Given the description of an element on the screen output the (x, y) to click on. 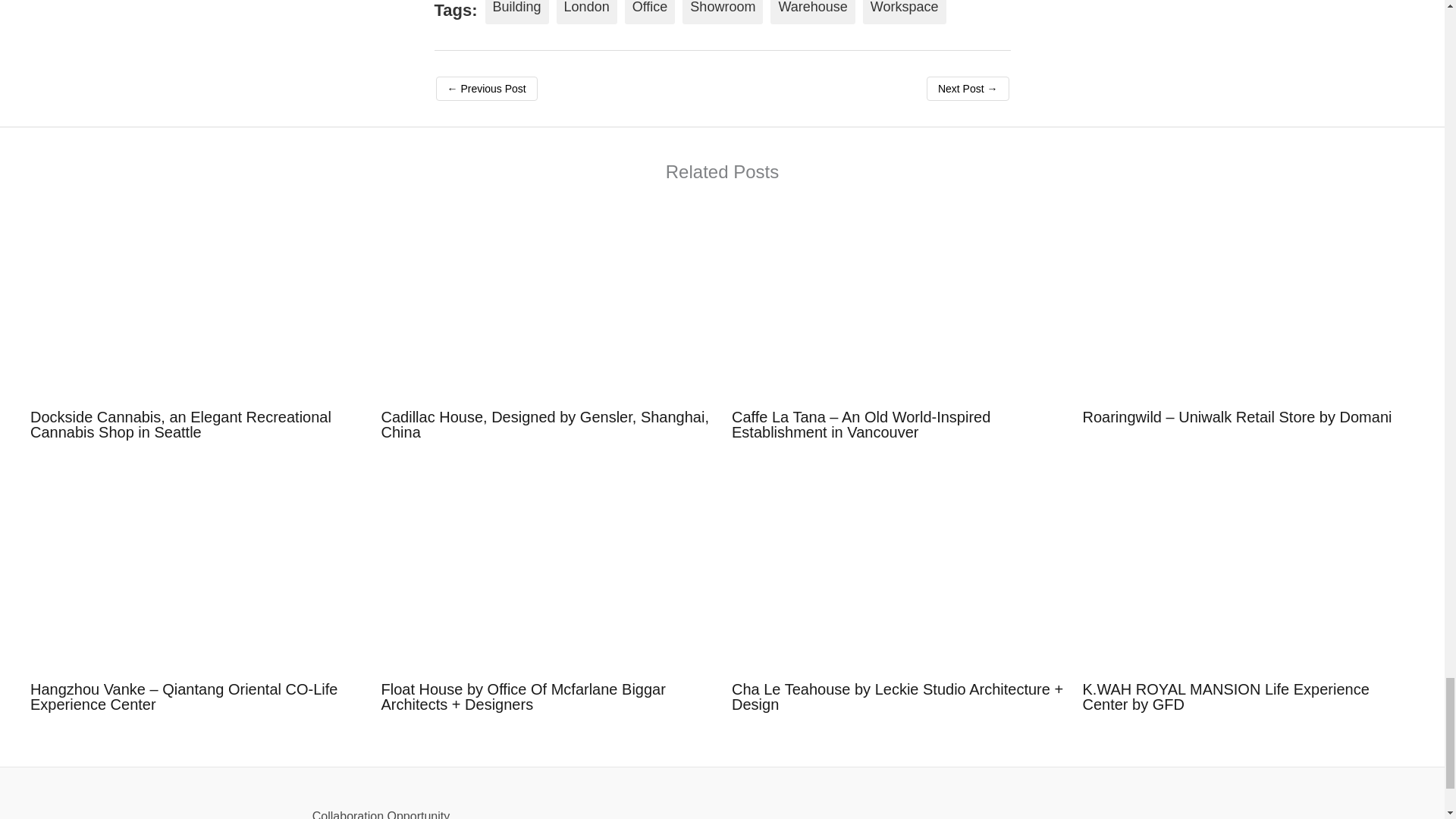
Jam Factory Penthouse in Bermondsey, London by InsideOut (486, 88)
